Given the description of an element on the screen output the (x, y) to click on. 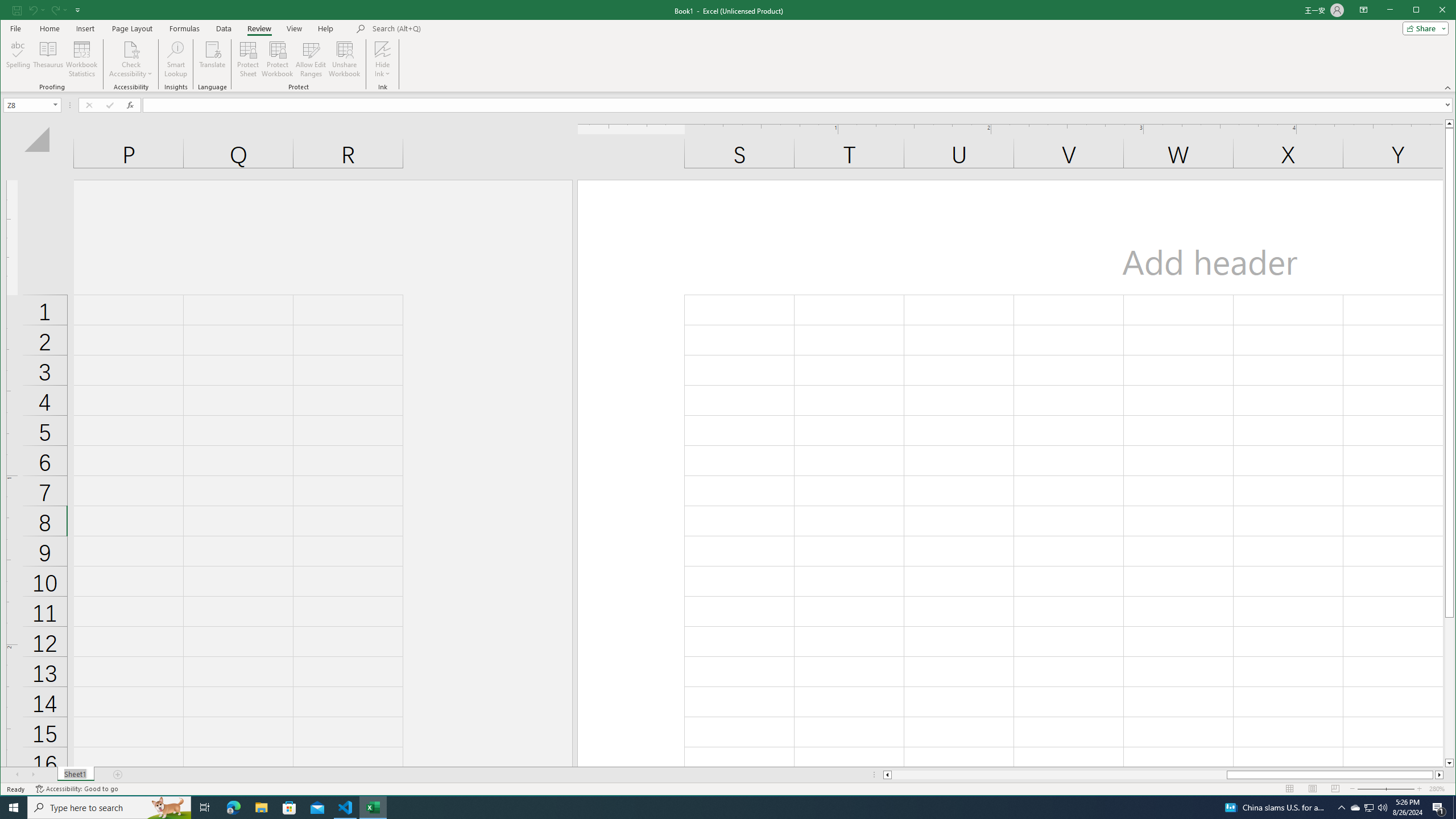
Type here to search (108, 807)
Hide Ink (382, 48)
Spelling... (18, 59)
Sheet Tab (75, 774)
Check Accessibility (130, 59)
